Given the description of an element on the screen output the (x, y) to click on. 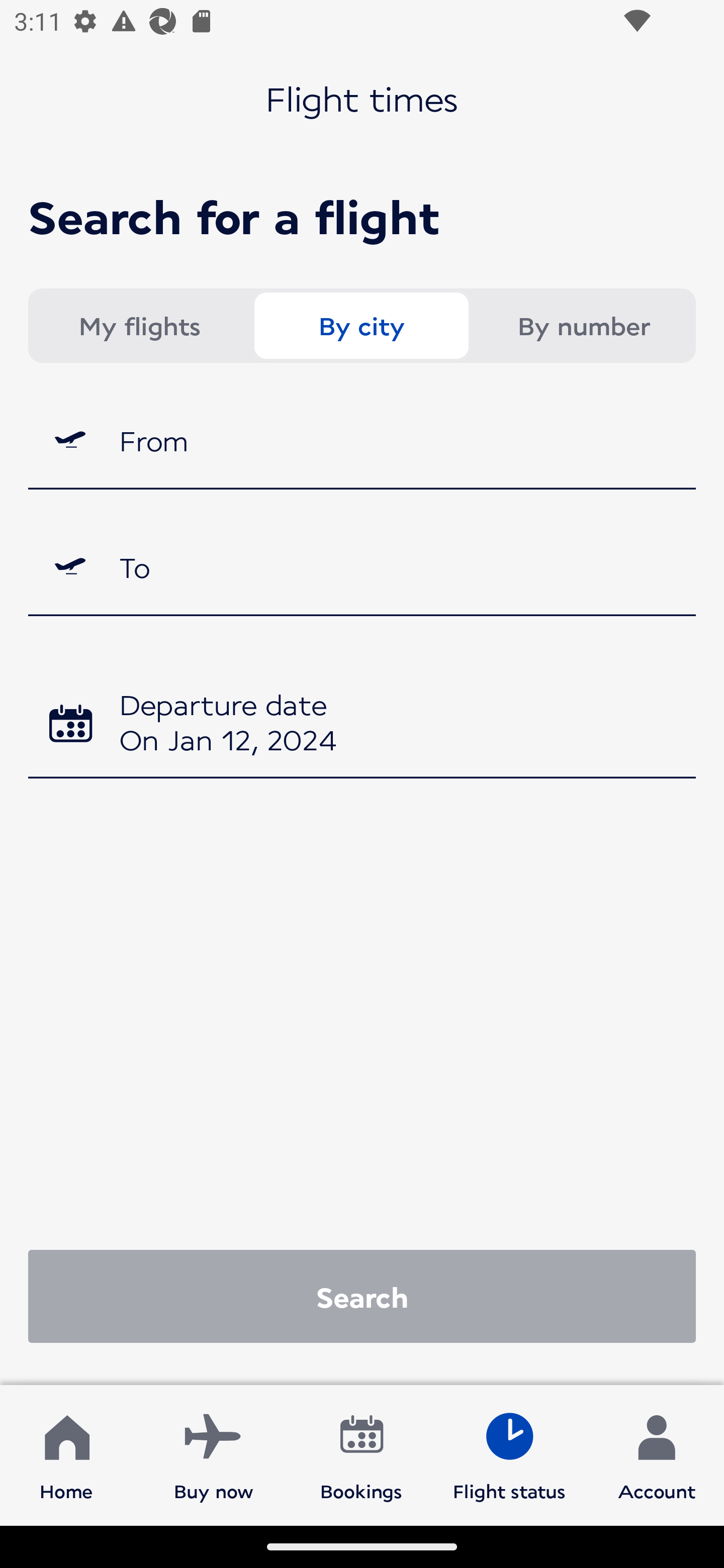
My flights (139, 325)
By city (361, 325)
By number (583, 325)
From (361, 439)
To (361, 566)
On Jan 12, 2024 Departure date (361, 724)
Search (361, 1295)
Home (66, 1454)
Buy now (213, 1454)
Bookings (361, 1454)
Account (657, 1454)
